Given the description of an element on the screen output the (x, y) to click on. 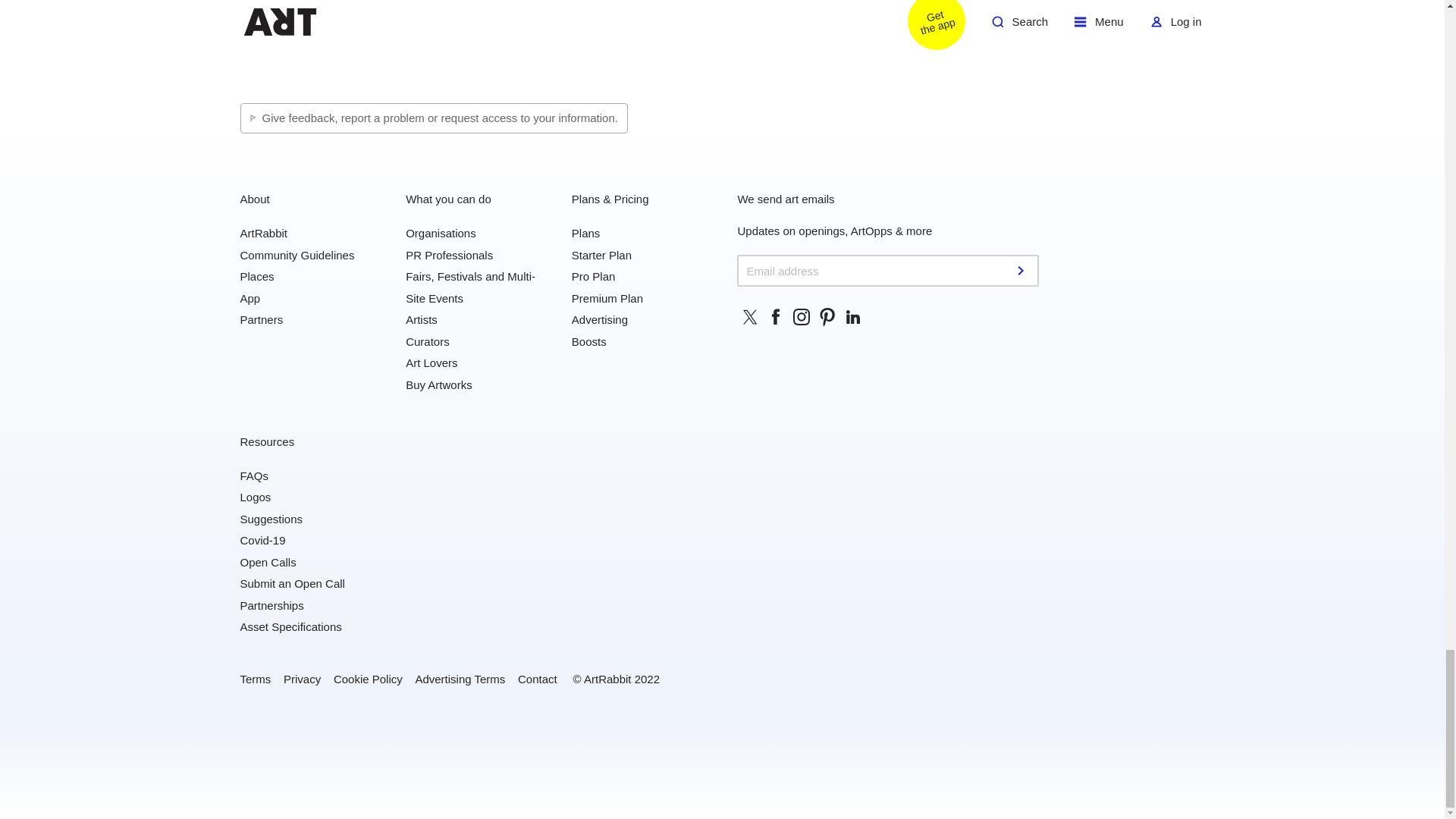
submit (1021, 270)
